Given the description of an element on the screen output the (x, y) to click on. 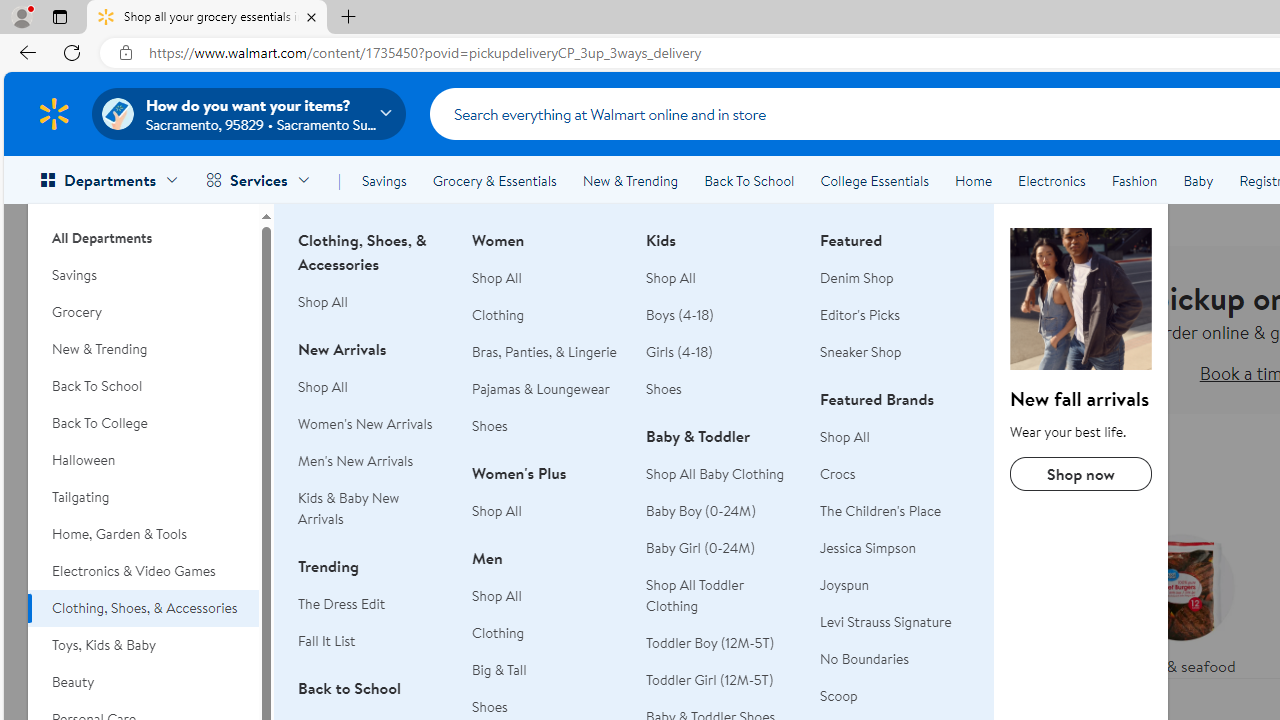
Crocs (895, 474)
Shop All Toddler Clothing (721, 596)
Shop All (845, 436)
The Dress Edit (341, 604)
Fall It List (373, 641)
Fresh produce (1024, 599)
Fashion (1134, 180)
Joyspun (895, 585)
Bras, Panties, & Lingerie (547, 352)
Electronics & Video Games (143, 570)
Halloween (143, 460)
FeaturedDenim ShopEditor's PicksSneaker Shop (895, 307)
Jessica Simpson (868, 547)
Sneaker Shop (895, 352)
